Given the description of an element on the screen output the (x, y) to click on. 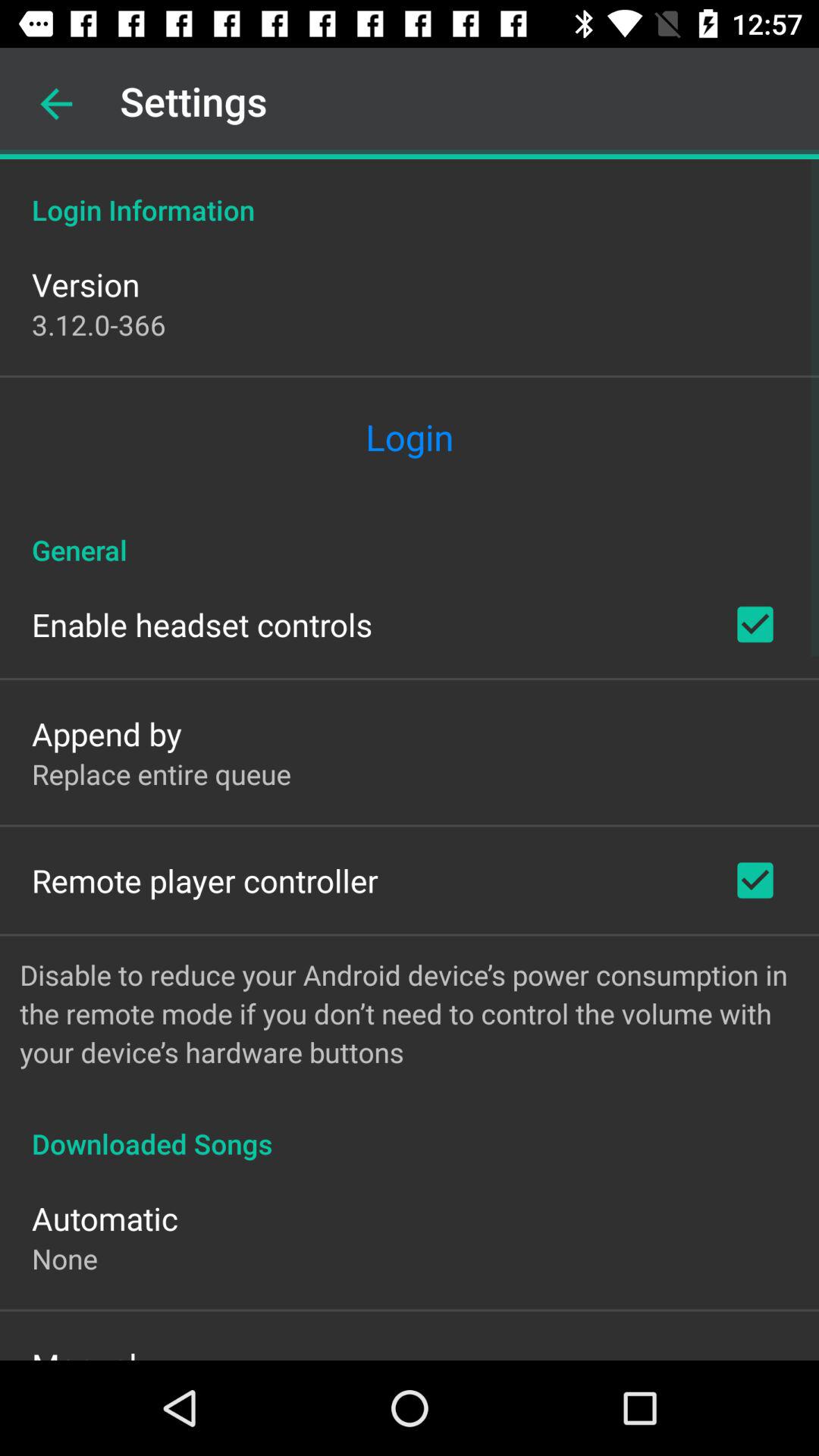
jump to version item (85, 283)
